Given the description of an element on the screen output the (x, y) to click on. 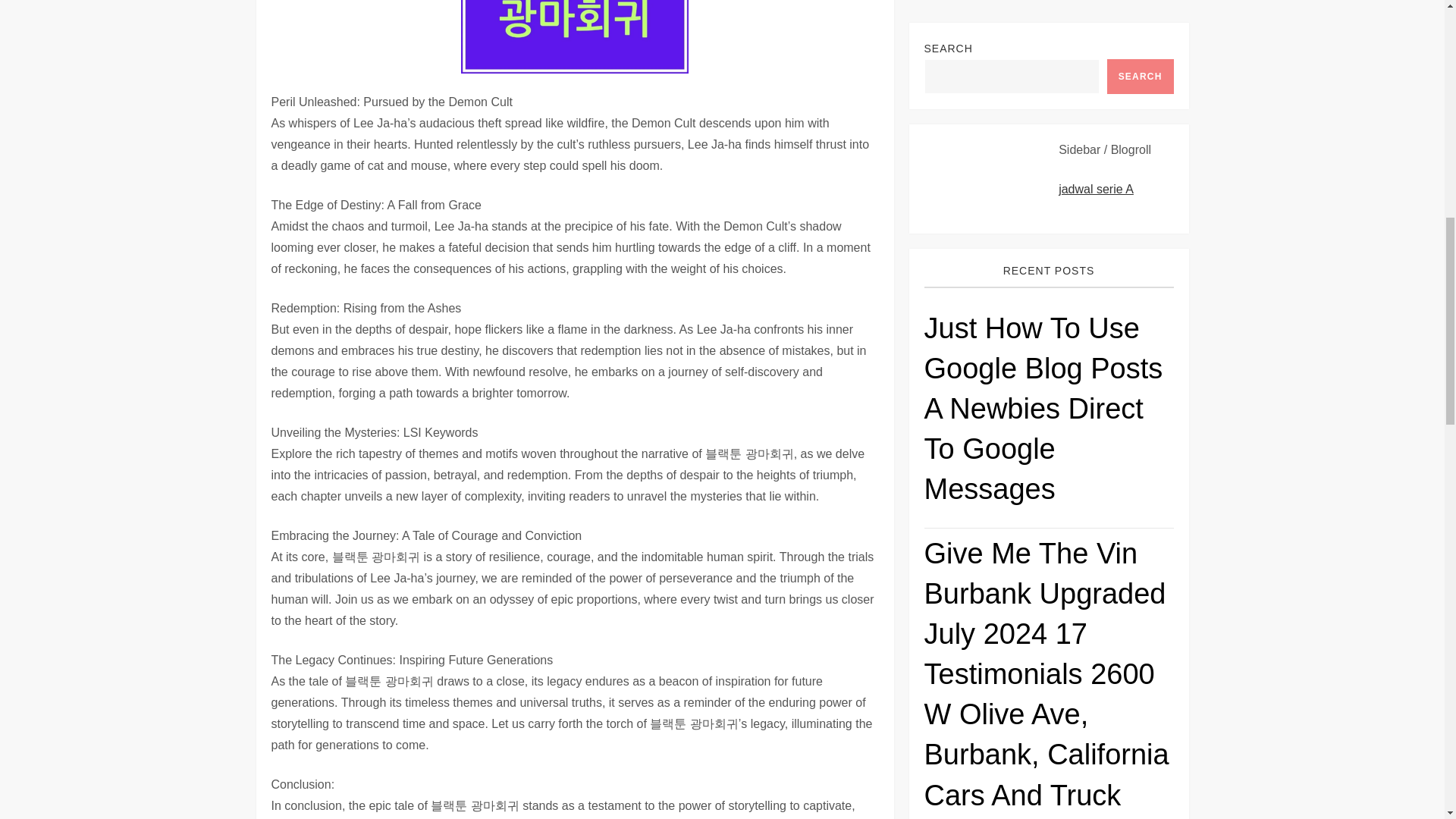
Hello world! (1112, 707)
A WordPress Commenter (992, 707)
The Advantages Of Worldwide Advisory Boards (1048, 542)
